Given the description of an element on the screen output the (x, y) to click on. 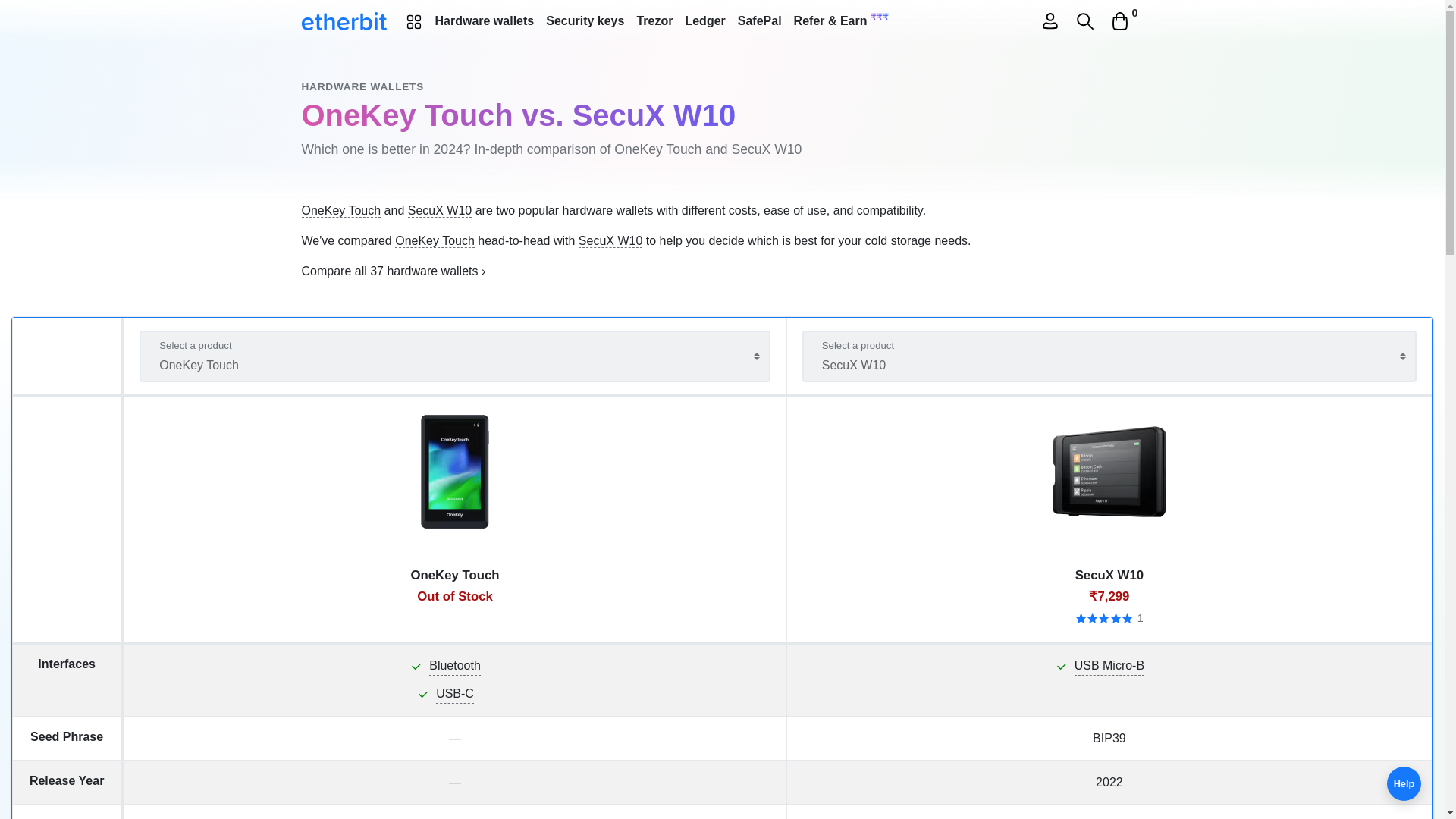
Etherbit.in homepage (344, 20)
Bluetooth (454, 665)
0 (1119, 20)
Ledger (704, 20)
Hardware wallets (484, 20)
My Account (1050, 20)
BIP39 (1109, 738)
SecuX W10 (610, 241)
BTCPAY (454, 818)
Cart (1119, 20)
Search (1085, 20)
USB-C (454, 693)
Trezor (654, 20)
USB Micro-B (1109, 665)
Security keys (585, 20)
